Given the description of an element on the screen output the (x, y) to click on. 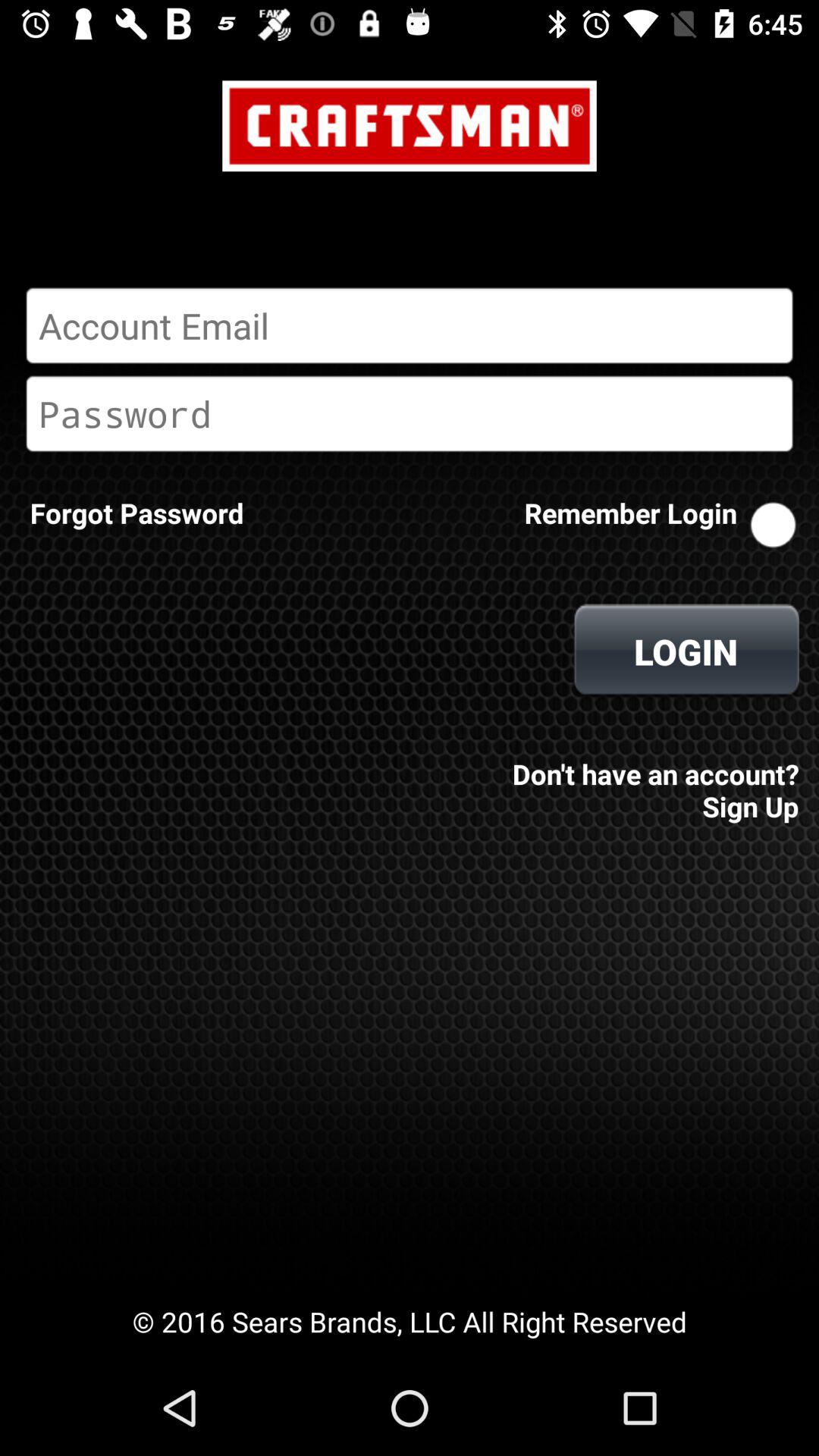
type password (409, 413)
